Given the description of an element on the screen output the (x, y) to click on. 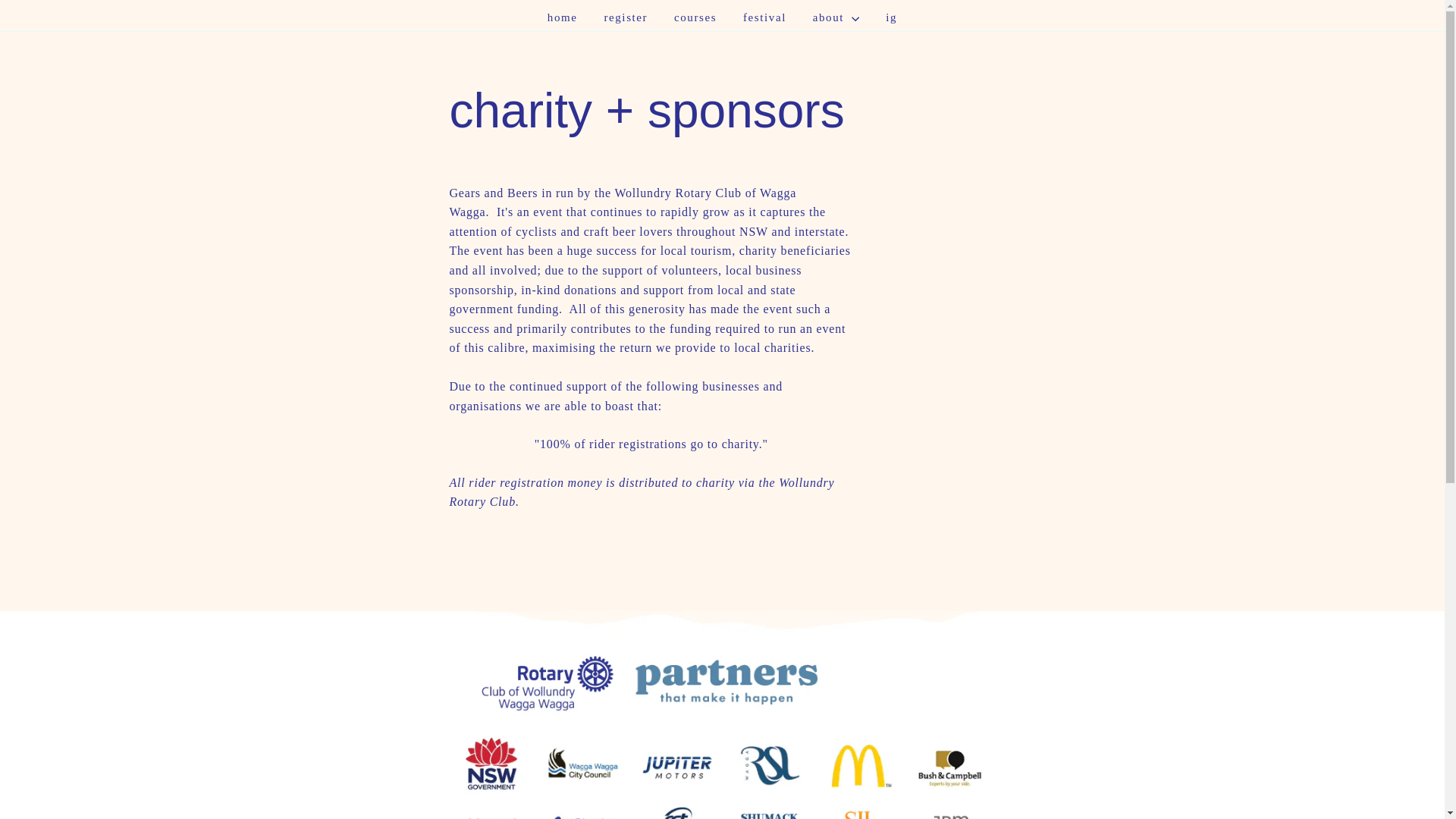
register (625, 17)
festival (764, 17)
home (562, 17)
about (836, 17)
courses (695, 17)
ig (891, 17)
